Given the description of an element on the screen output the (x, y) to click on. 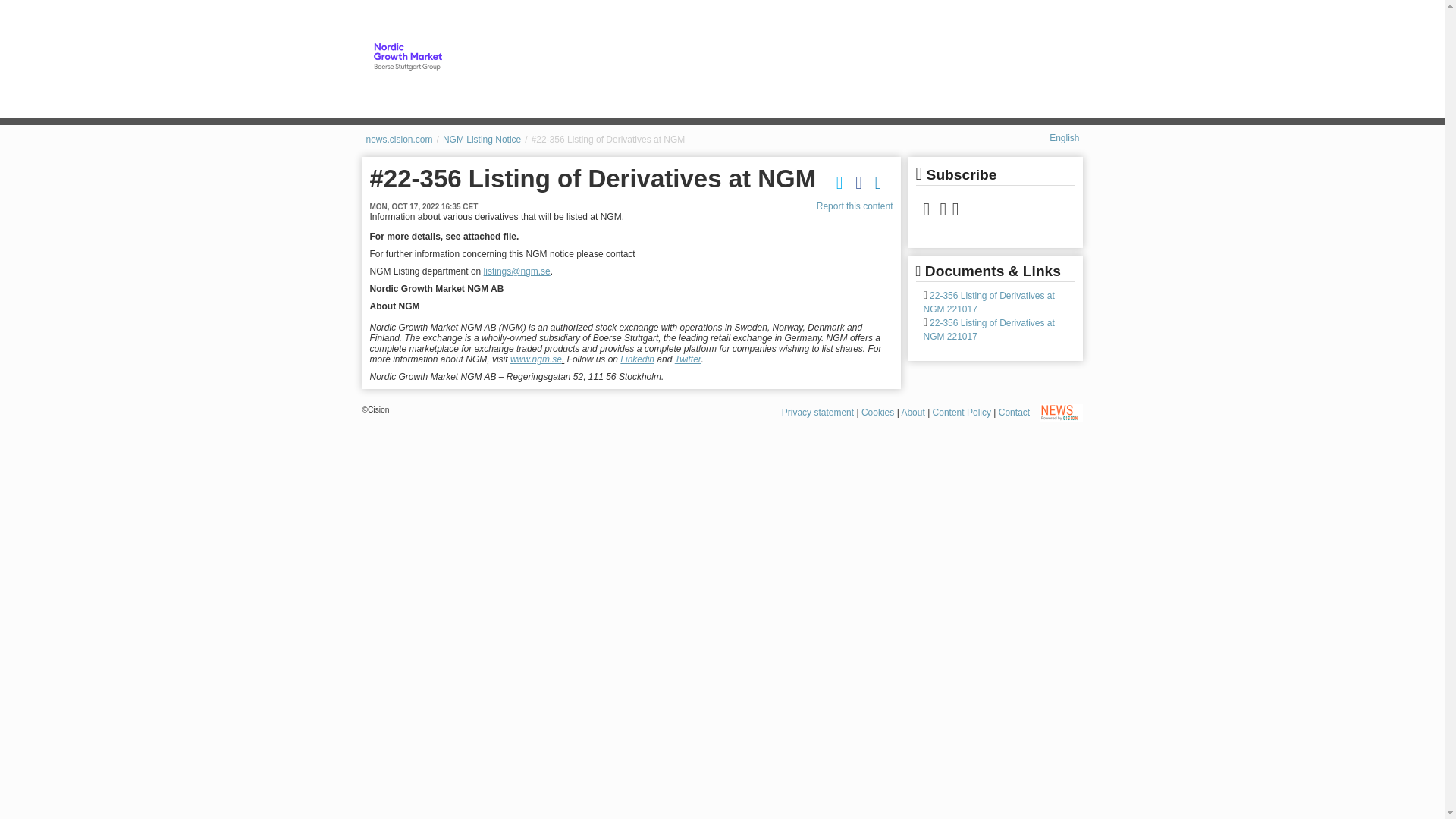
news.cision.com (398, 139)
Report this content (854, 205)
NGM Listing Notice (407, 56)
Privacy statement (817, 412)
English (1063, 137)
Linkedin (636, 358)
Content Policy (962, 412)
Twitter (688, 358)
22-356 Listing of Derivatives at NGM 221017 (988, 302)
Contact (1013, 412)
About (912, 412)
NGM Listing Notice (481, 139)
Cookies (877, 412)
NGM Listing Notice (481, 139)
